Given the description of an element on the screen output the (x, y) to click on. 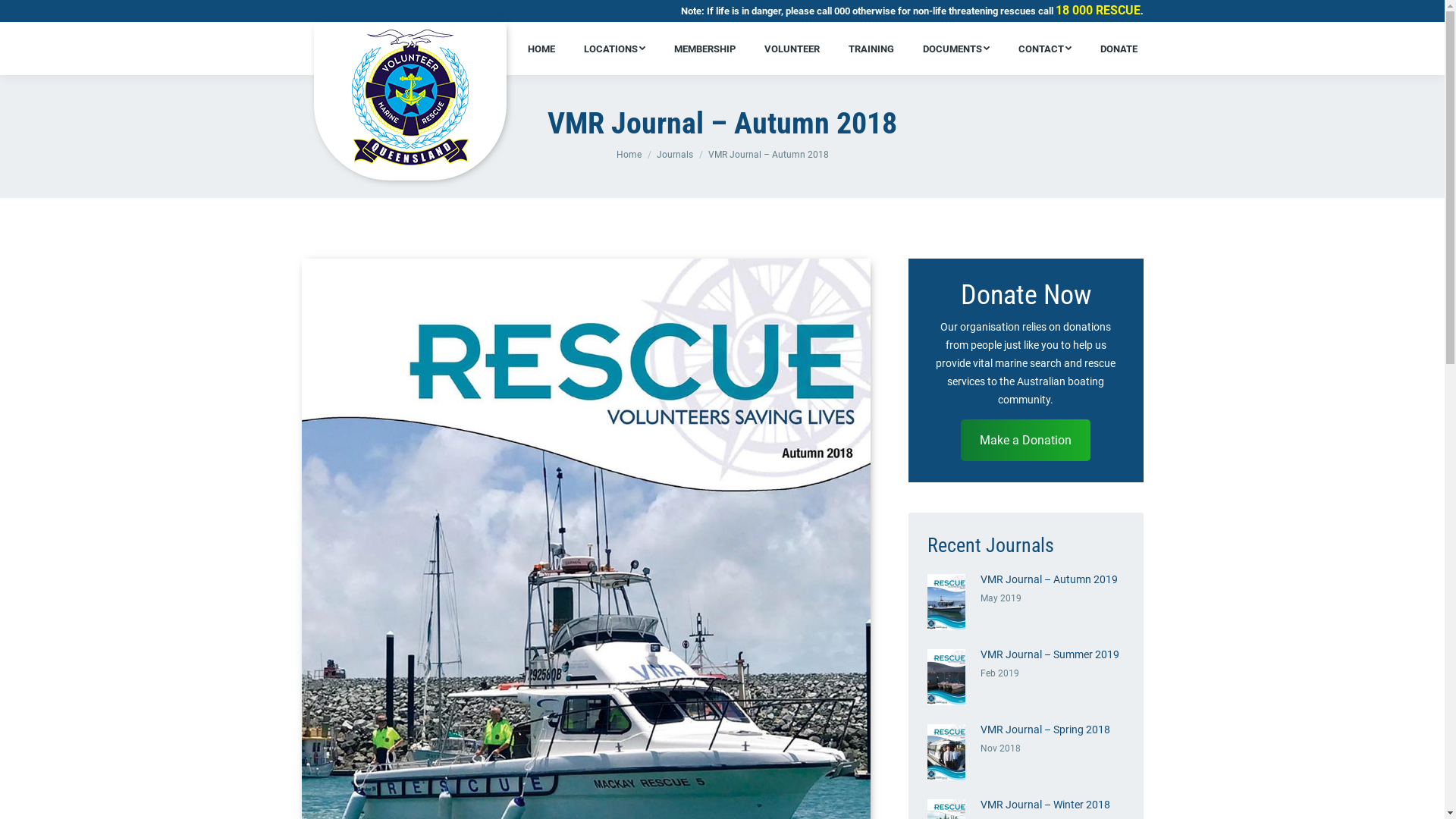
MEMBERSHIP Element type: text (704, 48)
Make a Donation Element type: text (1025, 440)
CONTACT Element type: text (1044, 48)
DOCUMENTS Element type: text (955, 48)
VOLUNTEER Element type: text (791, 48)
TRAINING Element type: text (871, 48)
LOCATIONS Element type: text (614, 48)
Home Element type: text (627, 154)
DONATE Element type: text (1118, 48)
HOME Element type: text (541, 48)
Journals Element type: text (674, 154)
